Given the description of an element on the screen output the (x, y) to click on. 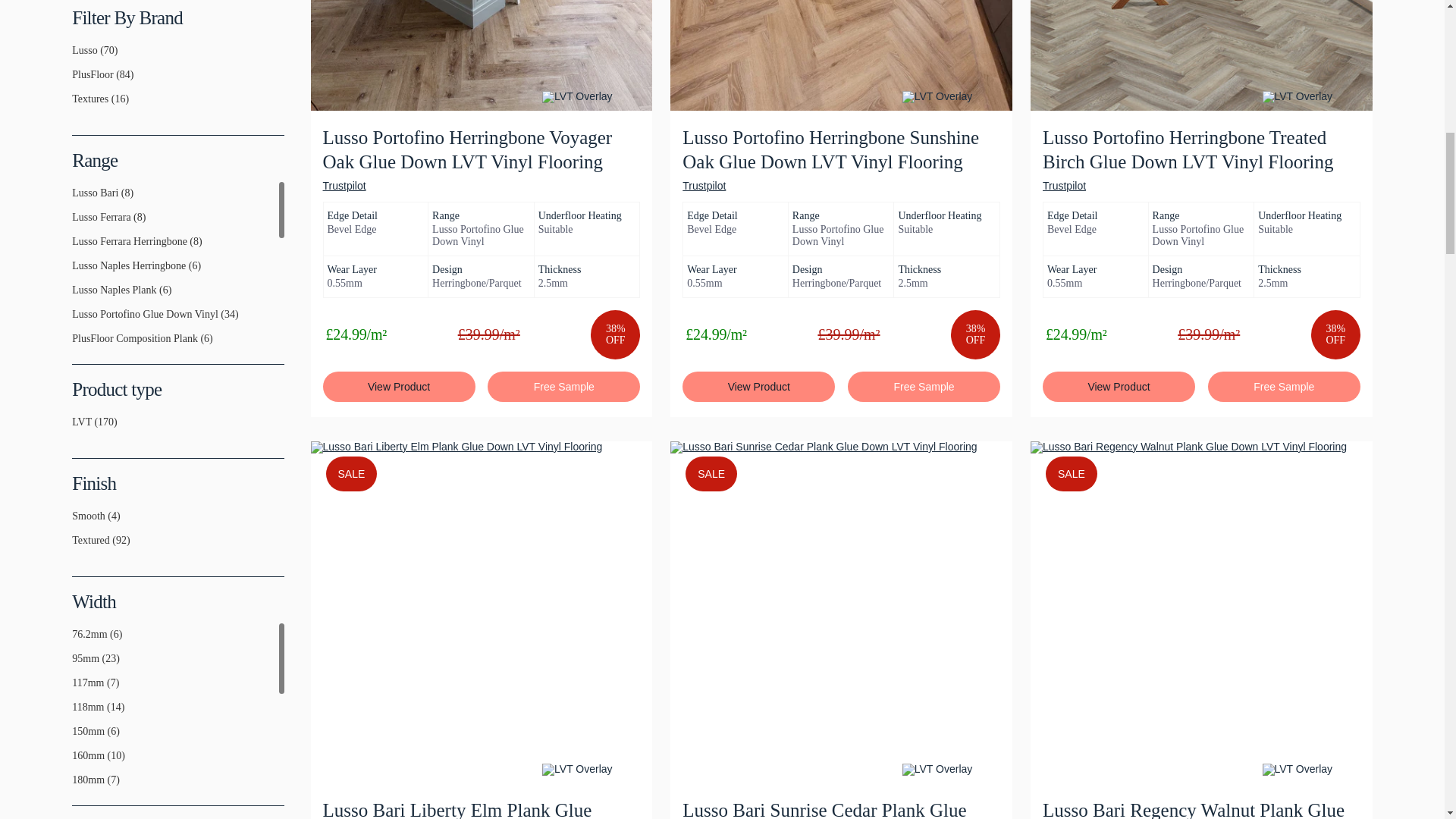
Lusso (77, 56)
Lusso Bari (77, 199)
PlusFloor Composition Plank (77, 345)
Lusso Naples Herringbone (77, 272)
Lusso Ferrara Herringbone (77, 247)
PlusFloor (77, 80)
PlusFloor Elements Herringbone (77, 393)
Lusso Portofino Glue Down Vinyl (77, 320)
Textures (77, 105)
PlusFloor Elements Plank (77, 417)
